Given the description of an element on the screen output the (x, y) to click on. 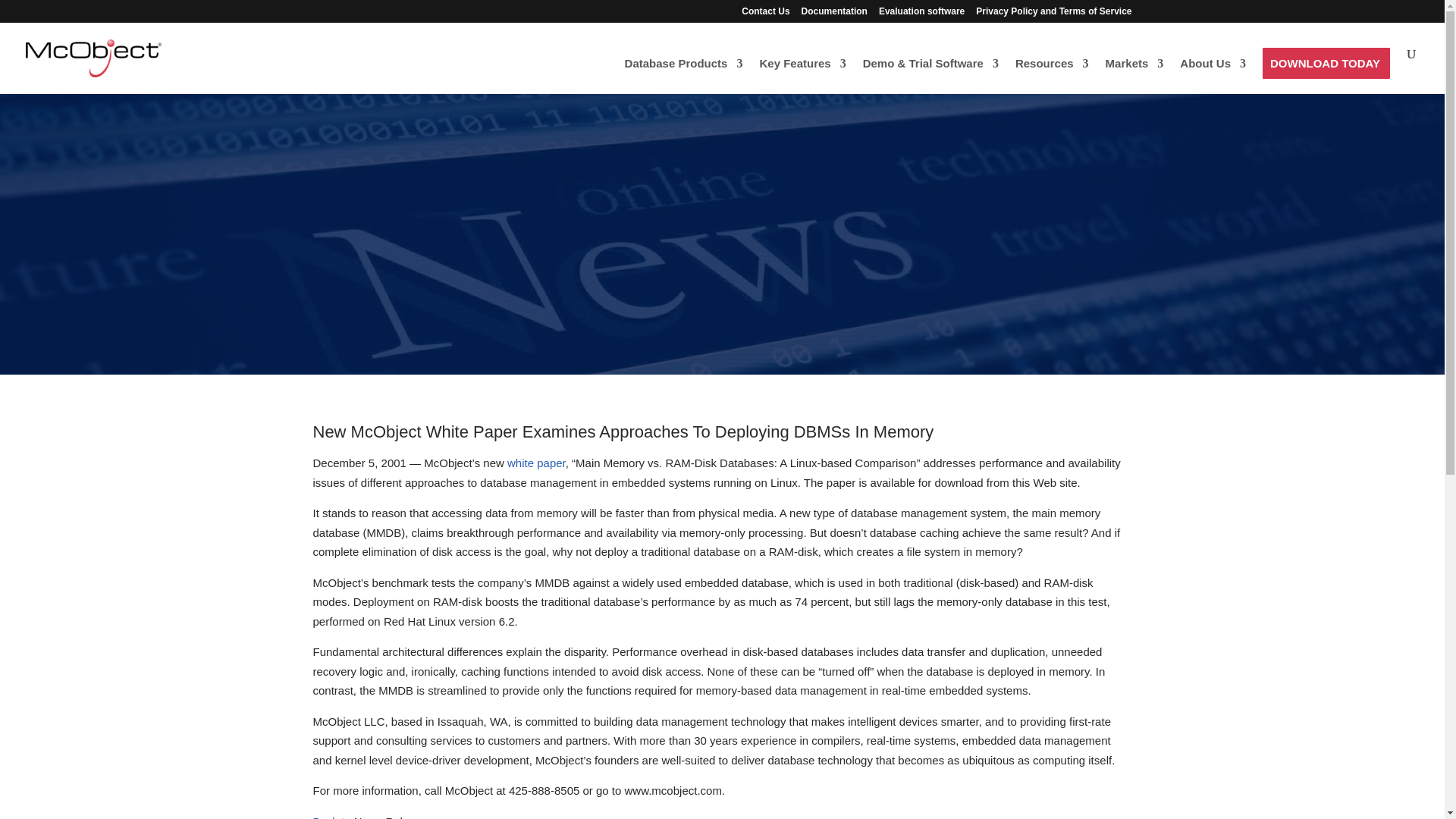
Database Products (683, 76)
Contact Us (765, 14)
Documentation (834, 14)
Privacy Policy and Terms of Service (1053, 14)
Key Features (801, 76)
Evaluation software (921, 14)
